Given the description of an element on the screen output the (x, y) to click on. 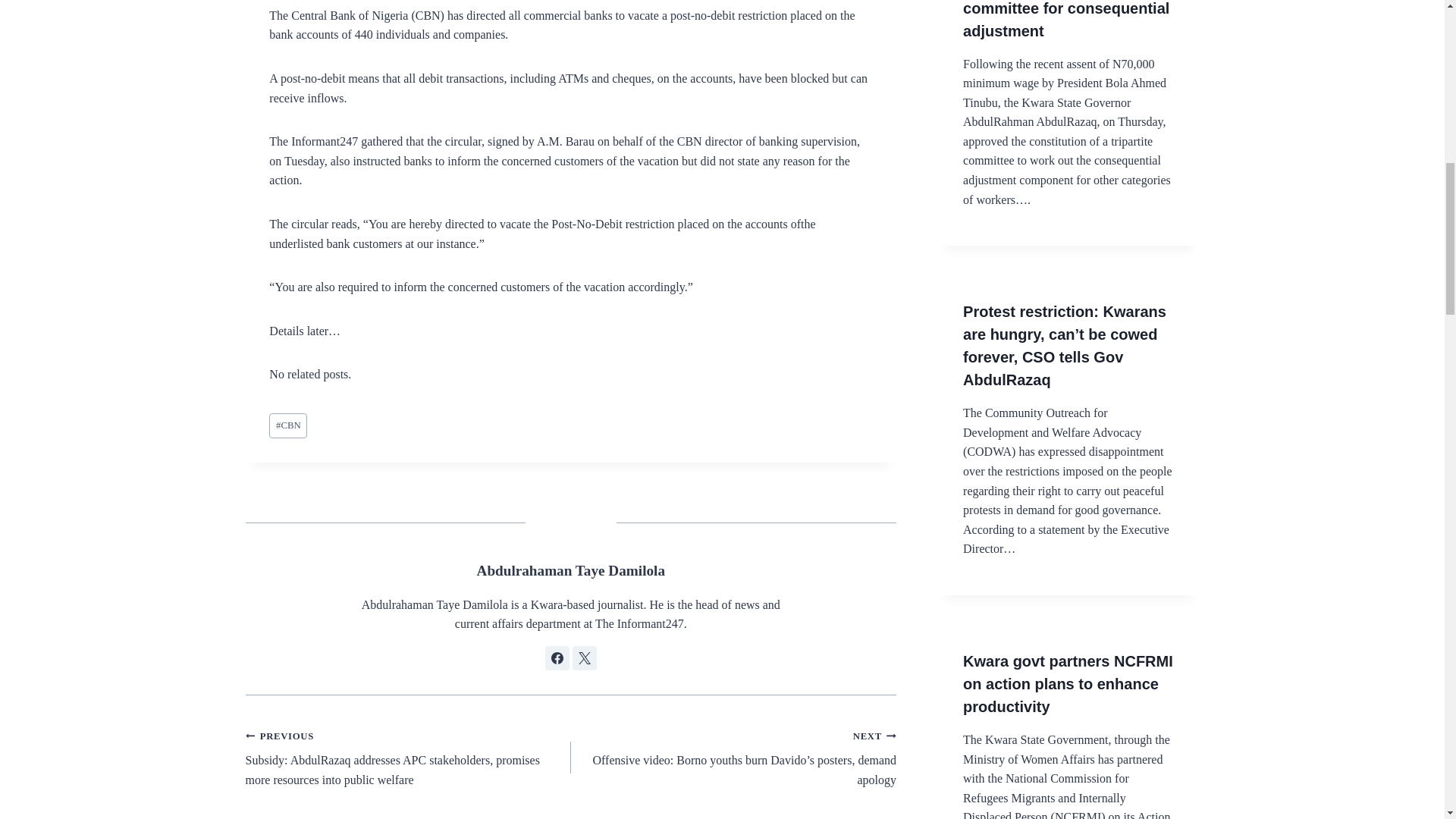
CBN (288, 425)
Follow Abdulrahaman Taye Damilola on X formerly Twitter (584, 658)
Abdulrahaman Taye Damilola (571, 570)
Follow Abdulrahaman Taye Damilola on Facebook (556, 658)
Posts by Abdulrahaman Taye Damilola (571, 570)
